Given the description of an element on the screen output the (x, y) to click on. 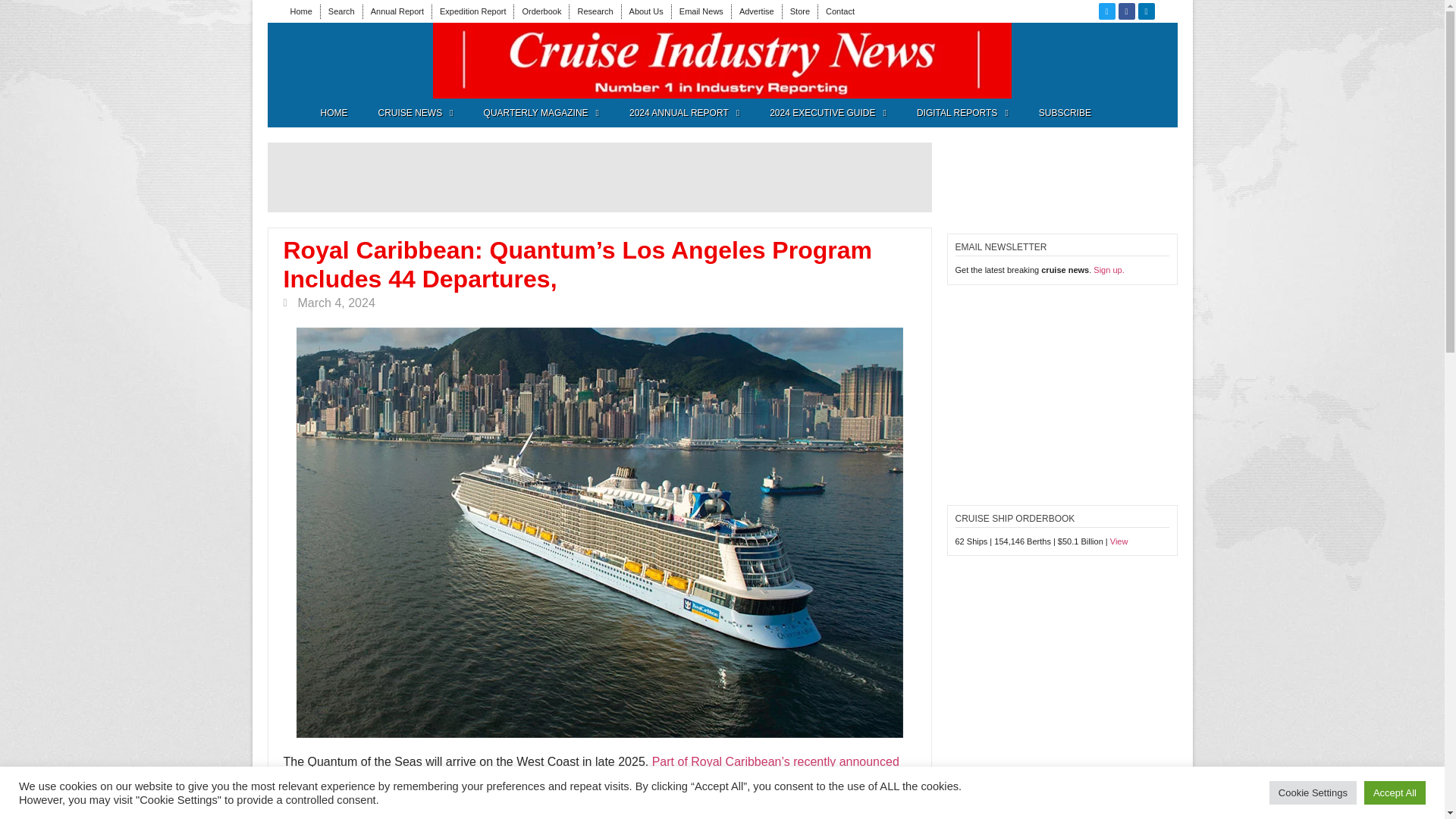
About Us (645, 11)
HOME (333, 112)
Orderbook (540, 11)
Search (342, 11)
CRUISE NEWS (414, 112)
Store (799, 11)
Expedition Report (472, 11)
Annual Report (397, 11)
3rd party ad content (599, 177)
Research (594, 11)
